Given the description of an element on the screen output the (x, y) to click on. 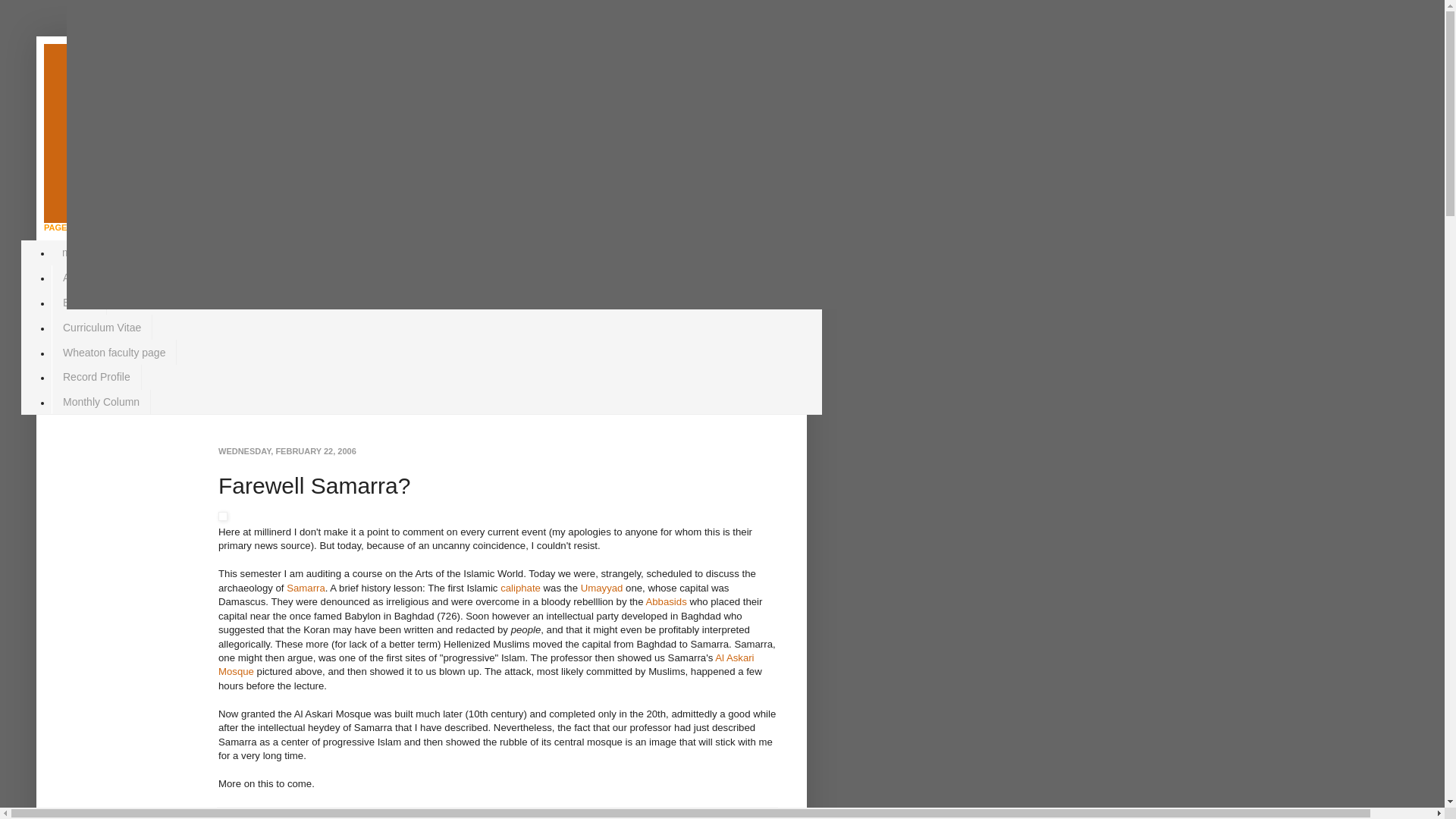
permanent link (319, 815)
millinerd (279, 815)
Al Askari Mosque (486, 664)
5:46 PM (319, 815)
Curriculum Vitae (101, 326)
Wheaton faculty page (113, 351)
millinerd.com (92, 252)
caliphate (520, 587)
millinerd.com (173, 107)
Monthly Column (100, 401)
Umayyad (601, 587)
Samarra (305, 587)
Books! (78, 302)
Abbasids (665, 601)
author profile (279, 815)
